Given the description of an element on the screen output the (x, y) to click on. 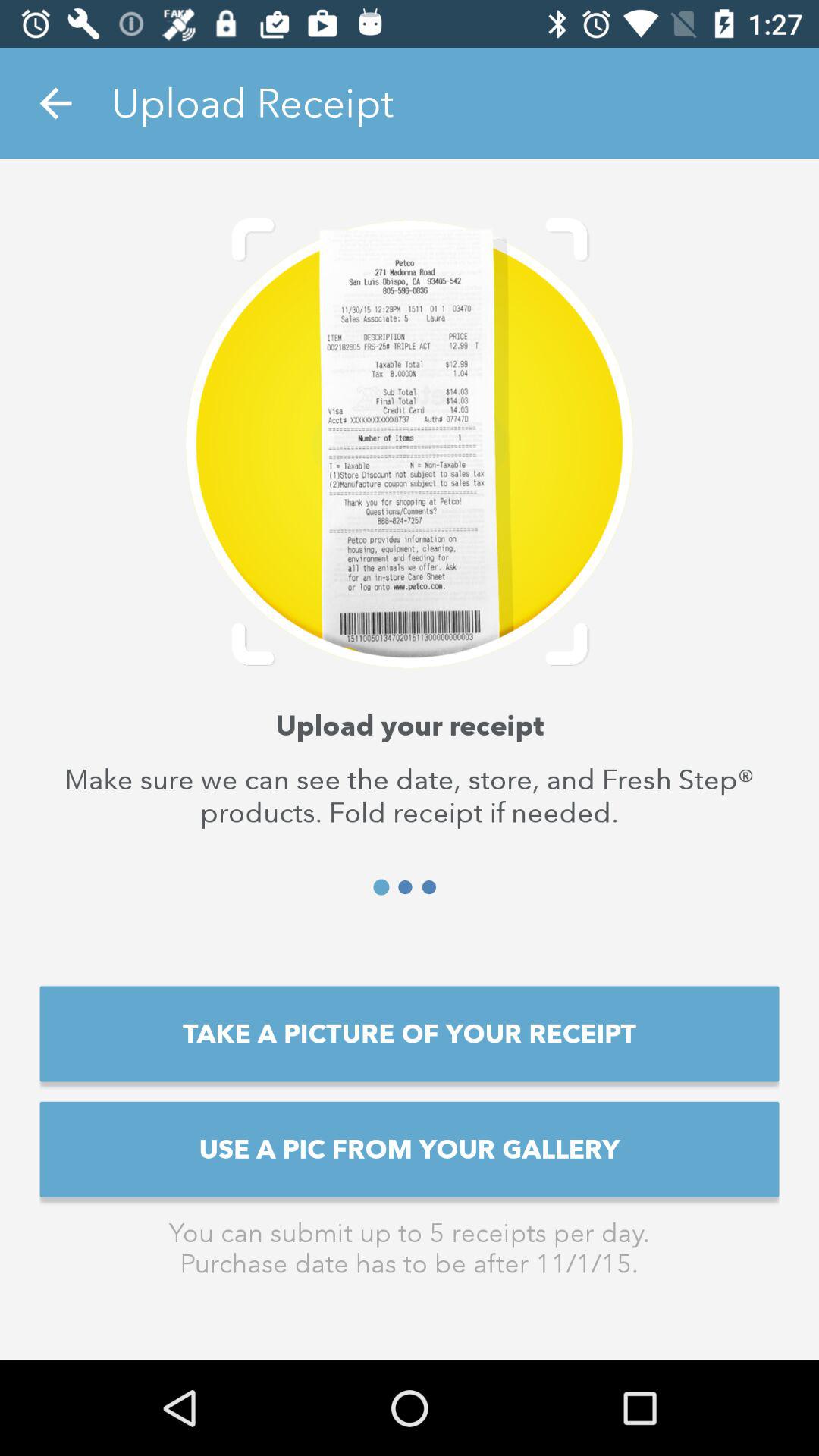
launch icon below the take a picture icon (409, 1149)
